Given the description of an element on the screen output the (x, y) to click on. 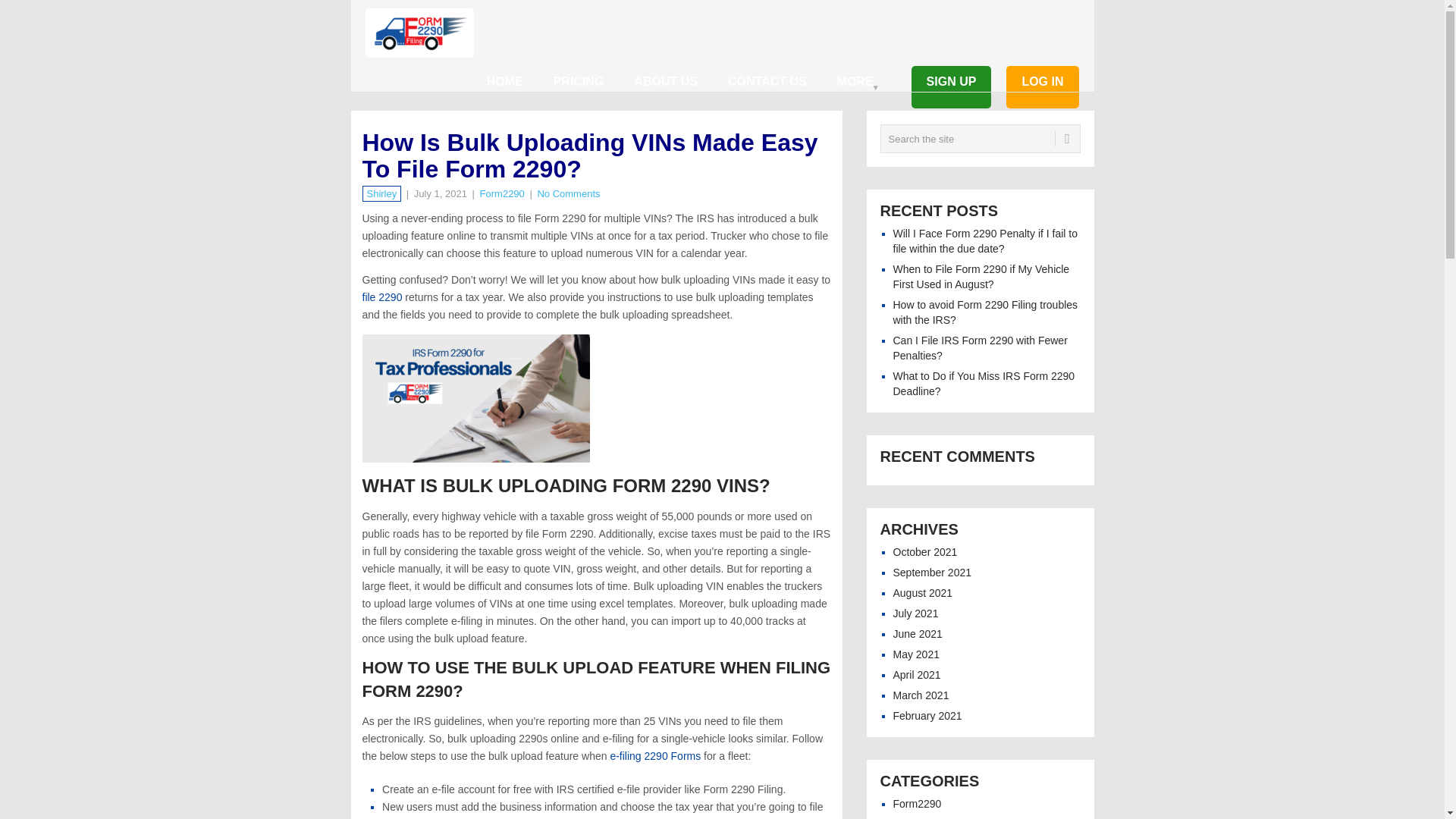
Posts by Shirley (381, 193)
Create A Free Account (951, 90)
LOG IN (1042, 90)
file 2290 (382, 297)
HOME (504, 90)
PRICING (579, 90)
Form2290 (502, 193)
MORE (855, 90)
Log In (1042, 90)
No Comments (568, 193)
Shirley (381, 193)
ABOUT US (665, 90)
e-filing 2290 Forms (655, 756)
CONTACT US (767, 90)
SIGN UP (951, 90)
